Given the description of an element on the screen output the (x, y) to click on. 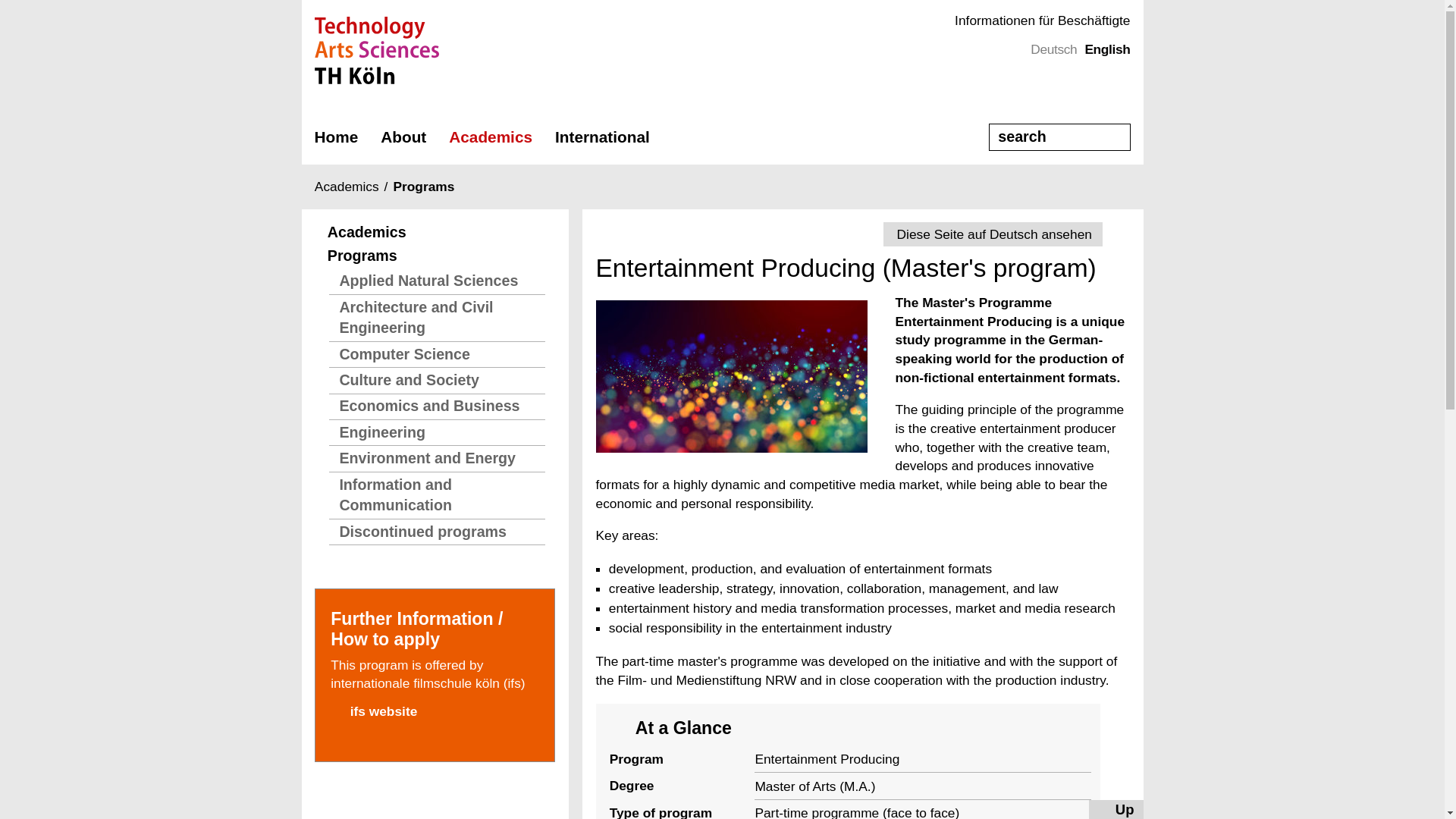
Deutsch (1053, 48)
Home (335, 136)
Link opens in a new window (434, 710)
About (403, 136)
